Given the description of an element on the screen output the (x, y) to click on. 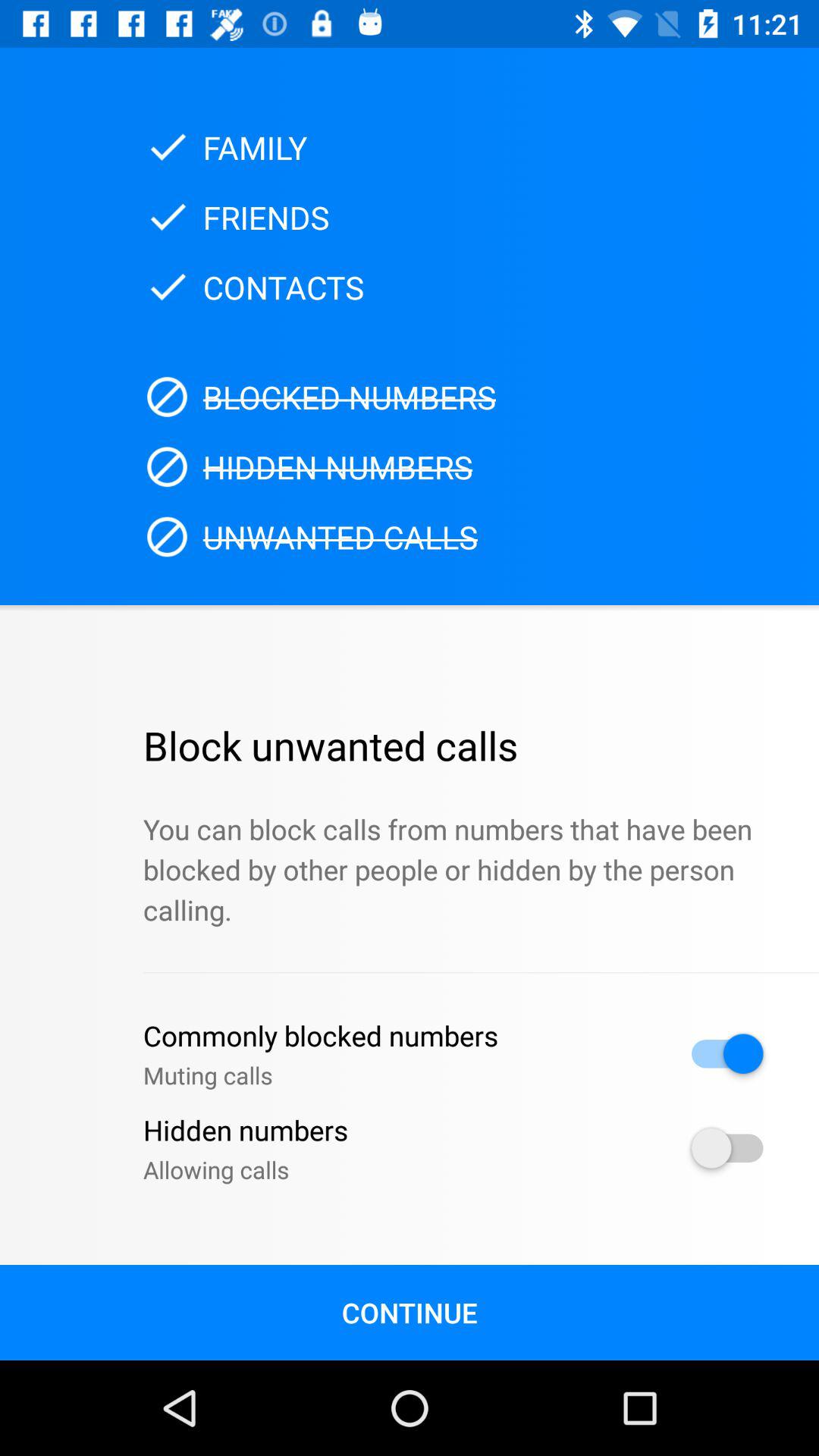
jump to continue item (409, 1312)
